Given the description of an element on the screen output the (x, y) to click on. 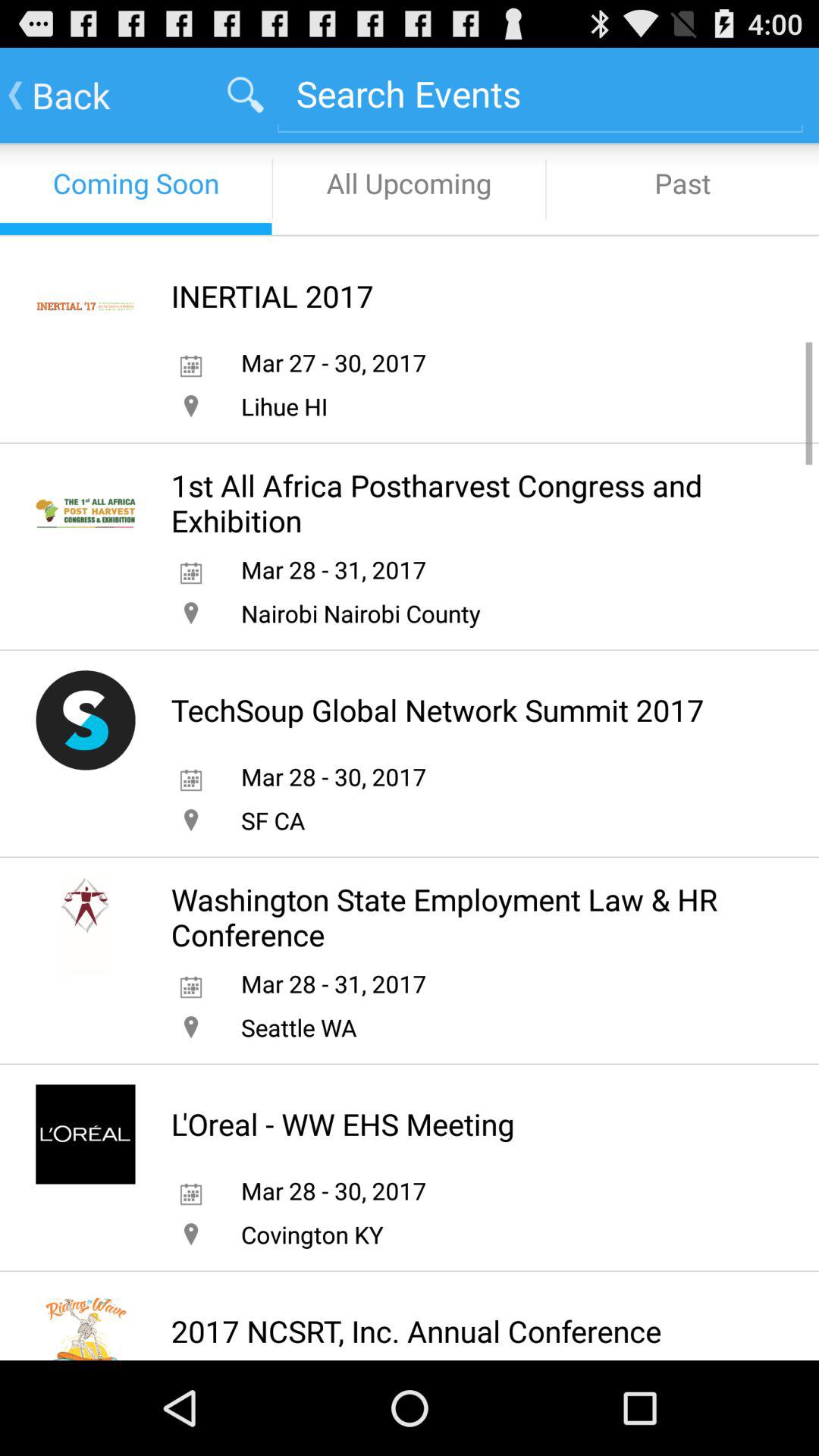
open the item below mar 28 31 (298, 1027)
